Given the description of an element on the screen output the (x, y) to click on. 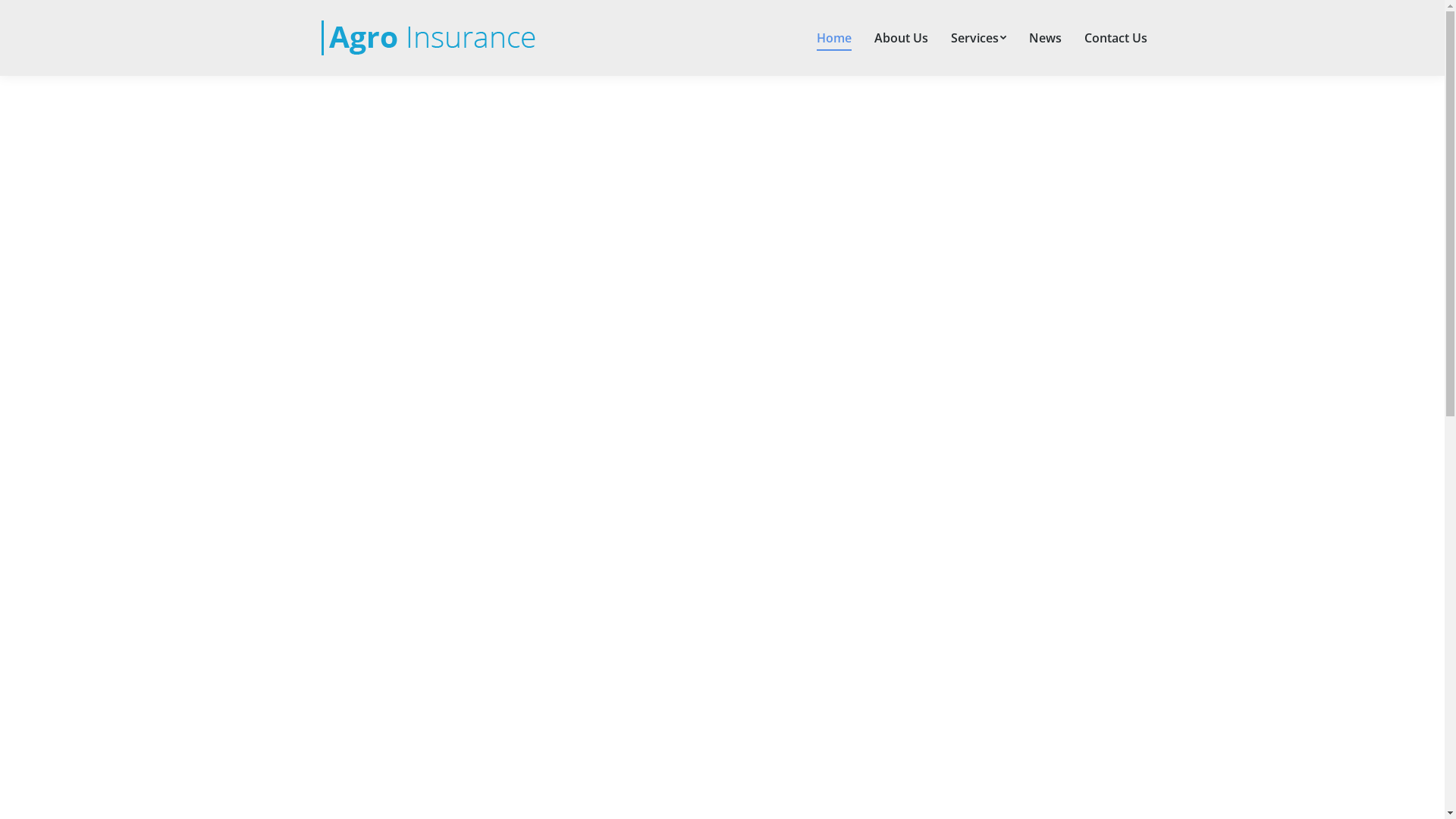
Contact Us Element type: text (1114, 37)
Home Element type: text (833, 37)
Services Element type: text (977, 37)
About Us Element type: text (900, 37)
News Element type: text (1045, 37)
